Given the description of an element on the screen output the (x, y) to click on. 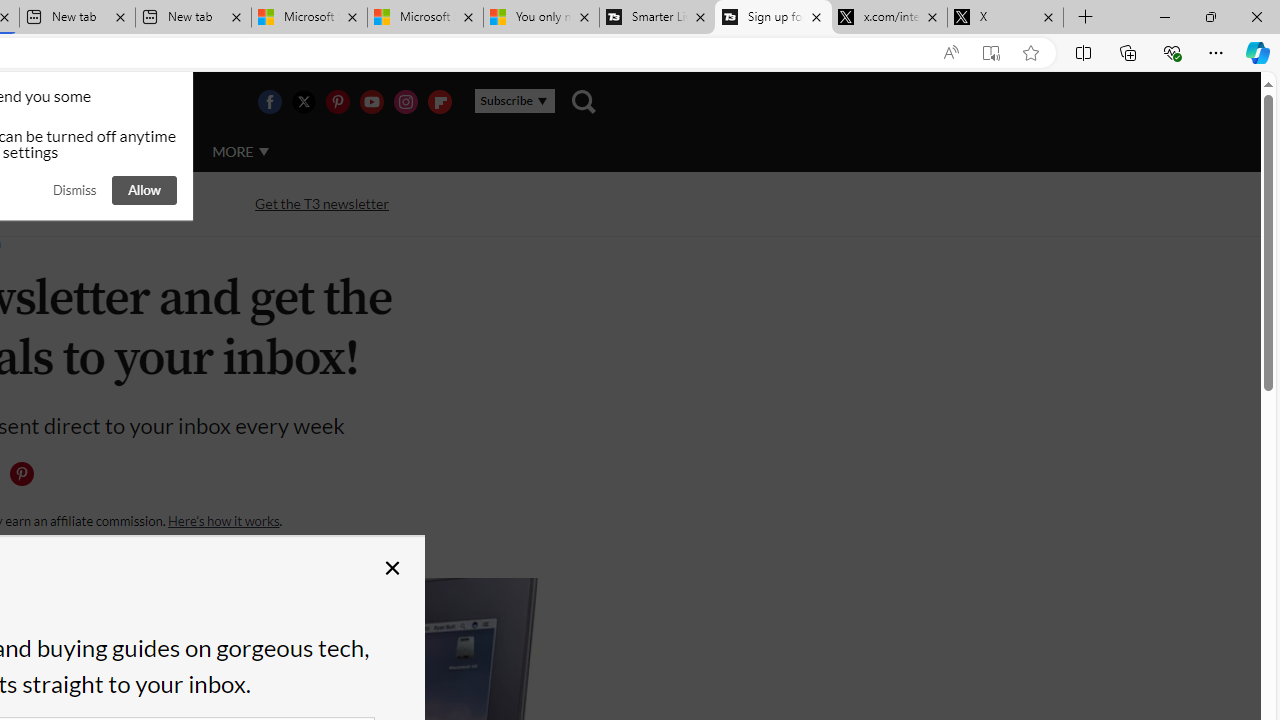
Streaming TV and movies (105, 204)
Visit us on Youtube (371, 101)
Subscribe (514, 101)
Visit us on Twitter (303, 101)
Dismiss (73, 190)
Class: navigation__search (583, 101)
Visit us on Facebook (269, 101)
Class: social__item (25, 477)
